Given the description of an element on the screen output the (x, y) to click on. 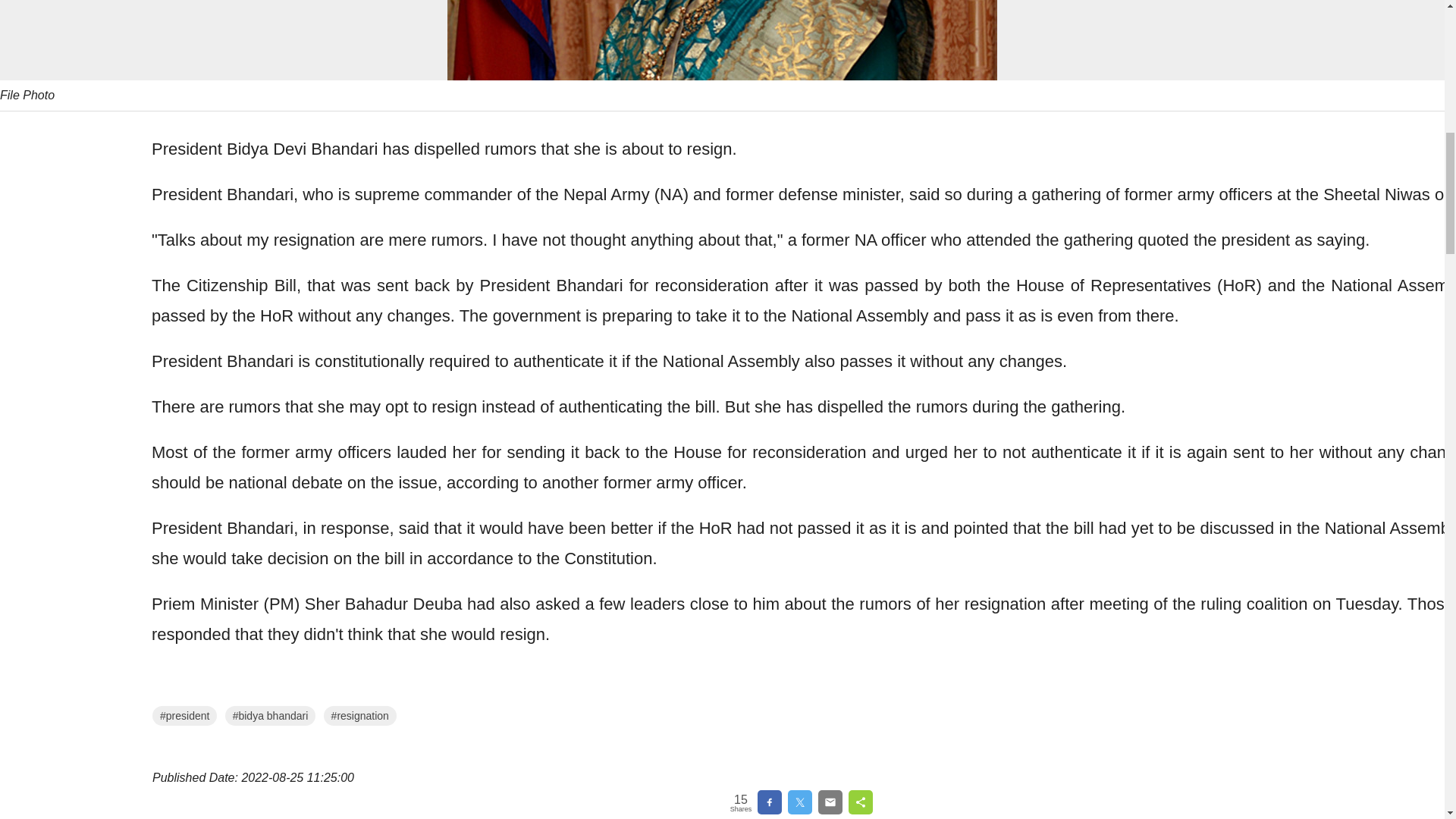
president (184, 715)
bidya bhandari (270, 715)
